Given the description of an element on the screen output the (x, y) to click on. 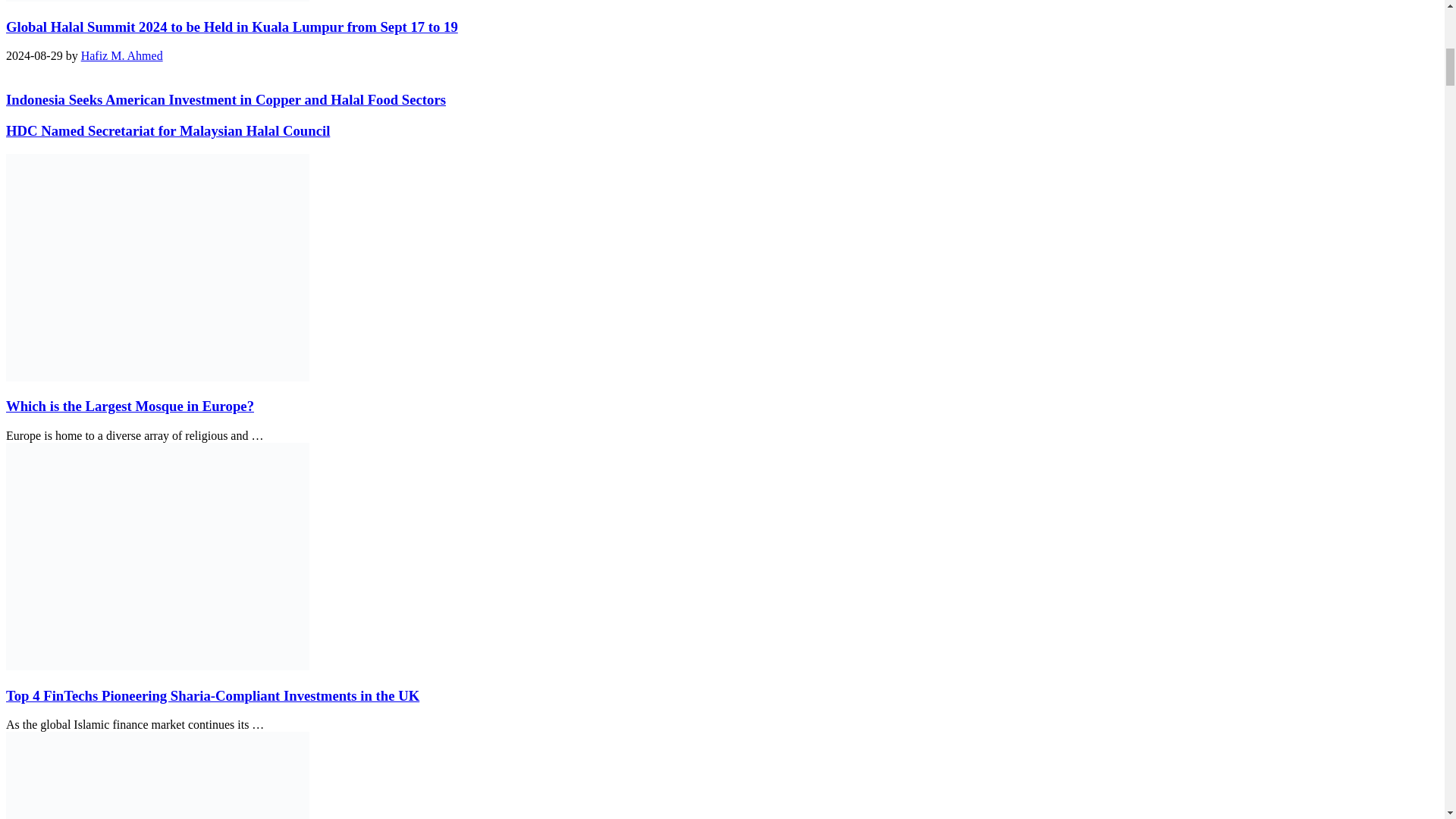
Hafiz M. Ahmed (122, 55)
HDC Named Secretariat for Malaysian Halal Council (167, 130)
Which is the Largest Mosque in Europe? (129, 406)
